Given the description of an element on the screen output the (x, y) to click on. 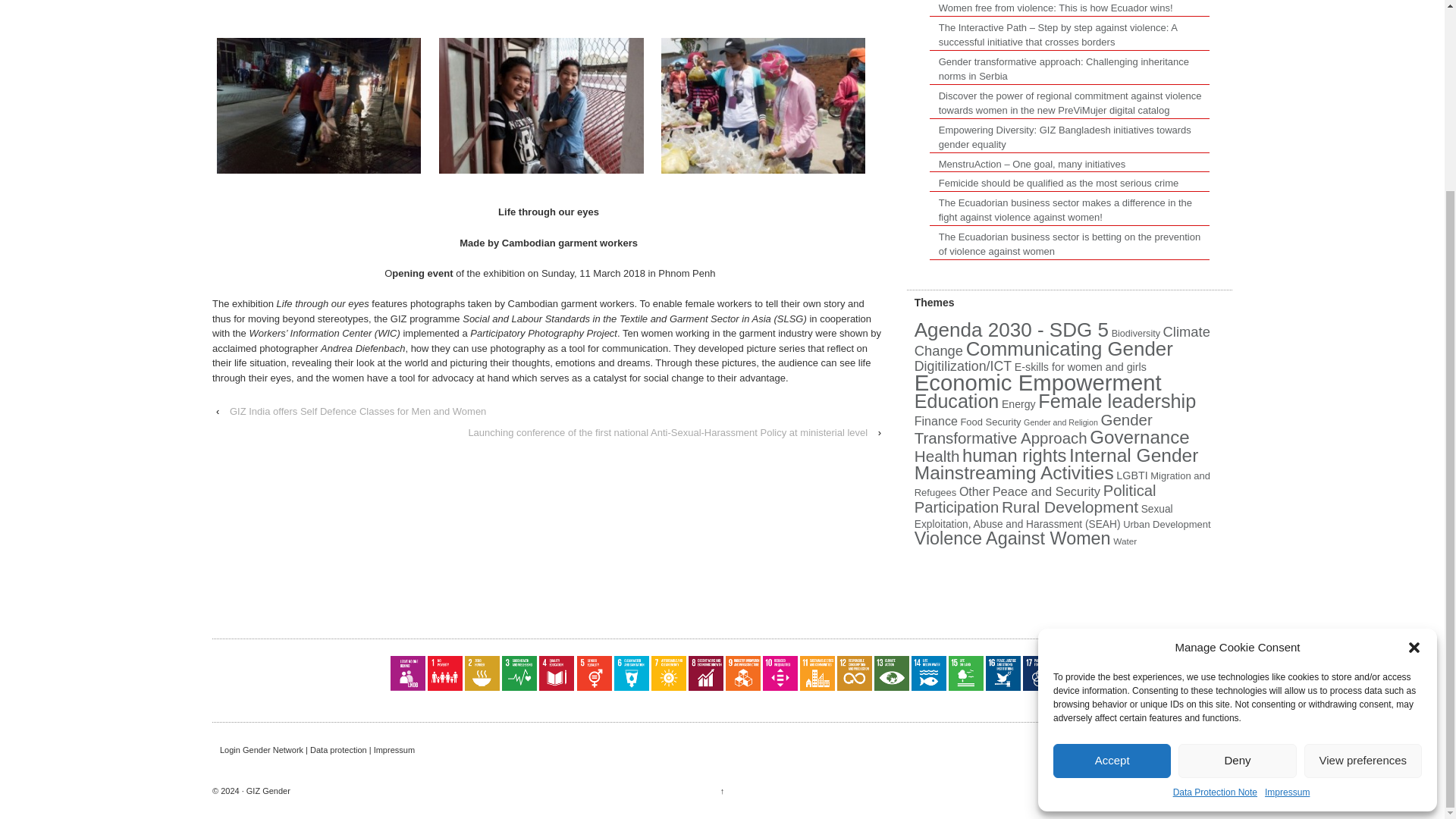
View preferences (1363, 521)
Accept (1111, 521)
Impressum (1286, 554)
Deny (1236, 521)
Data Protection Note (1215, 554)
